Given the description of an element on the screen output the (x, y) to click on. 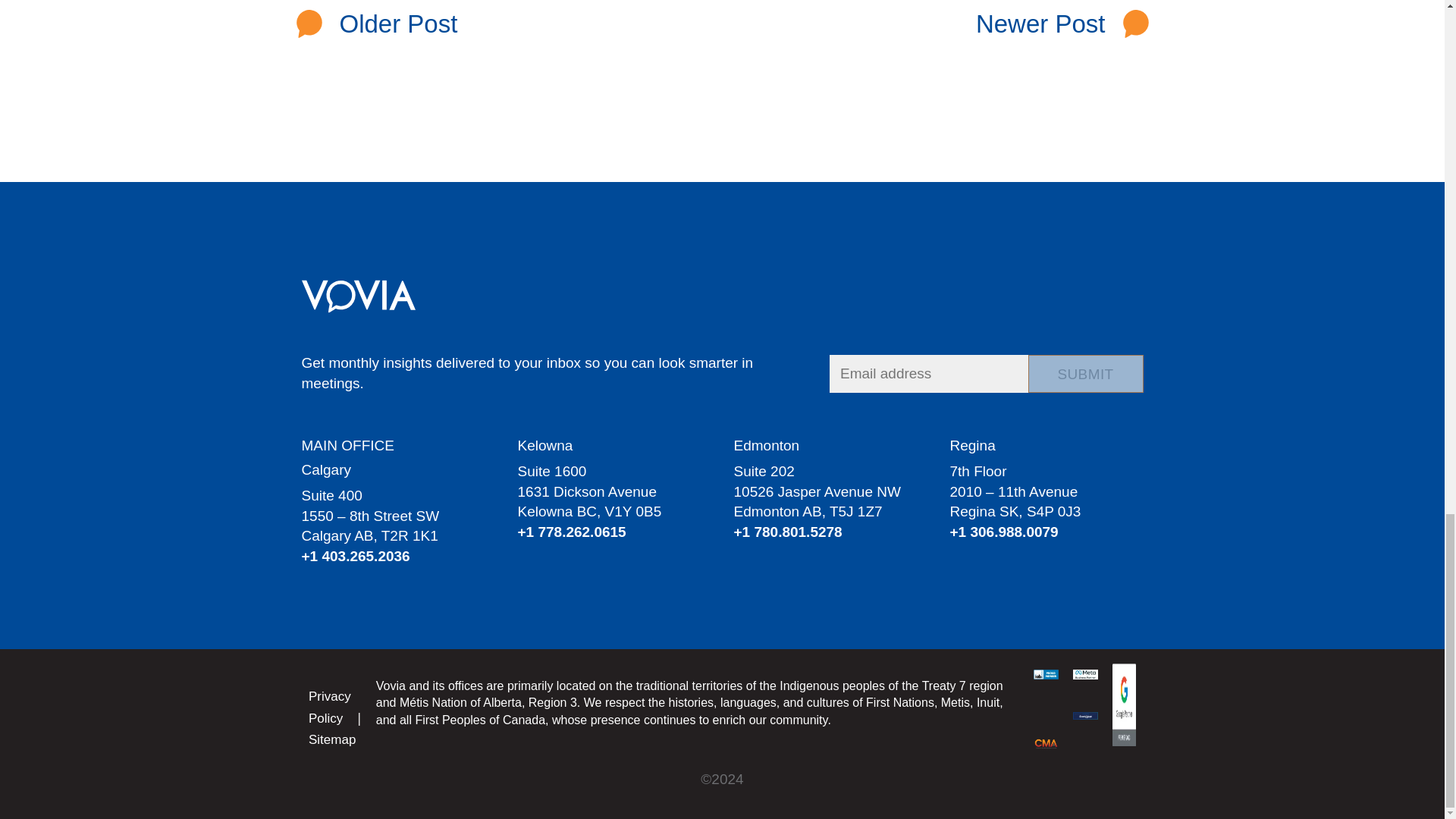
Submit (1084, 373)
